Given the description of an element on the screen output the (x, y) to click on. 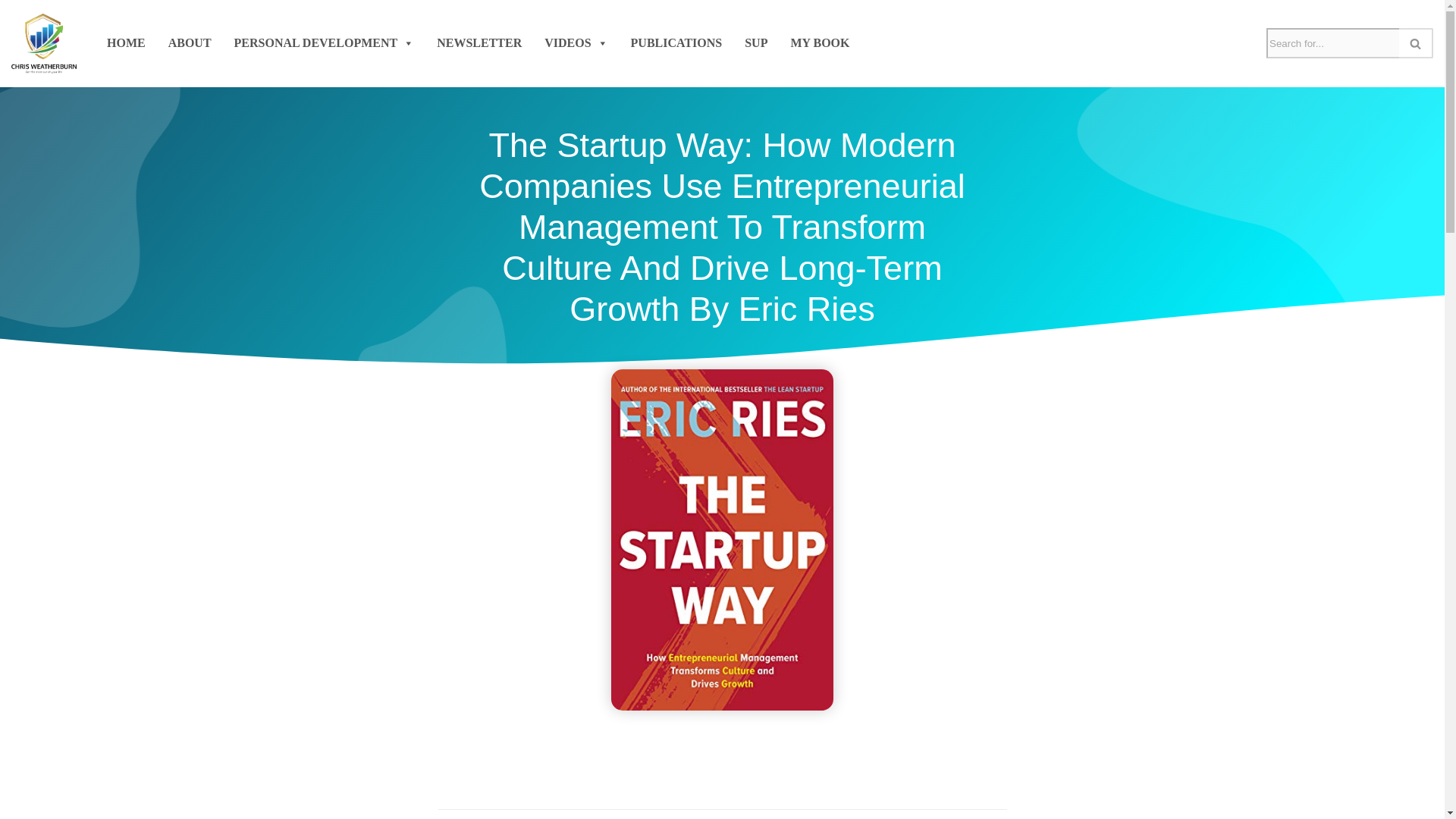
Skip to content (11, 31)
VIDEOS (575, 42)
MY BOOK (820, 42)
PERSONAL DEVELOPMENT (324, 42)
ABOUT (189, 42)
HOME (125, 42)
NEWSLETTER (479, 42)
PUBLICATIONS (676, 42)
